Given the description of an element on the screen output the (x, y) to click on. 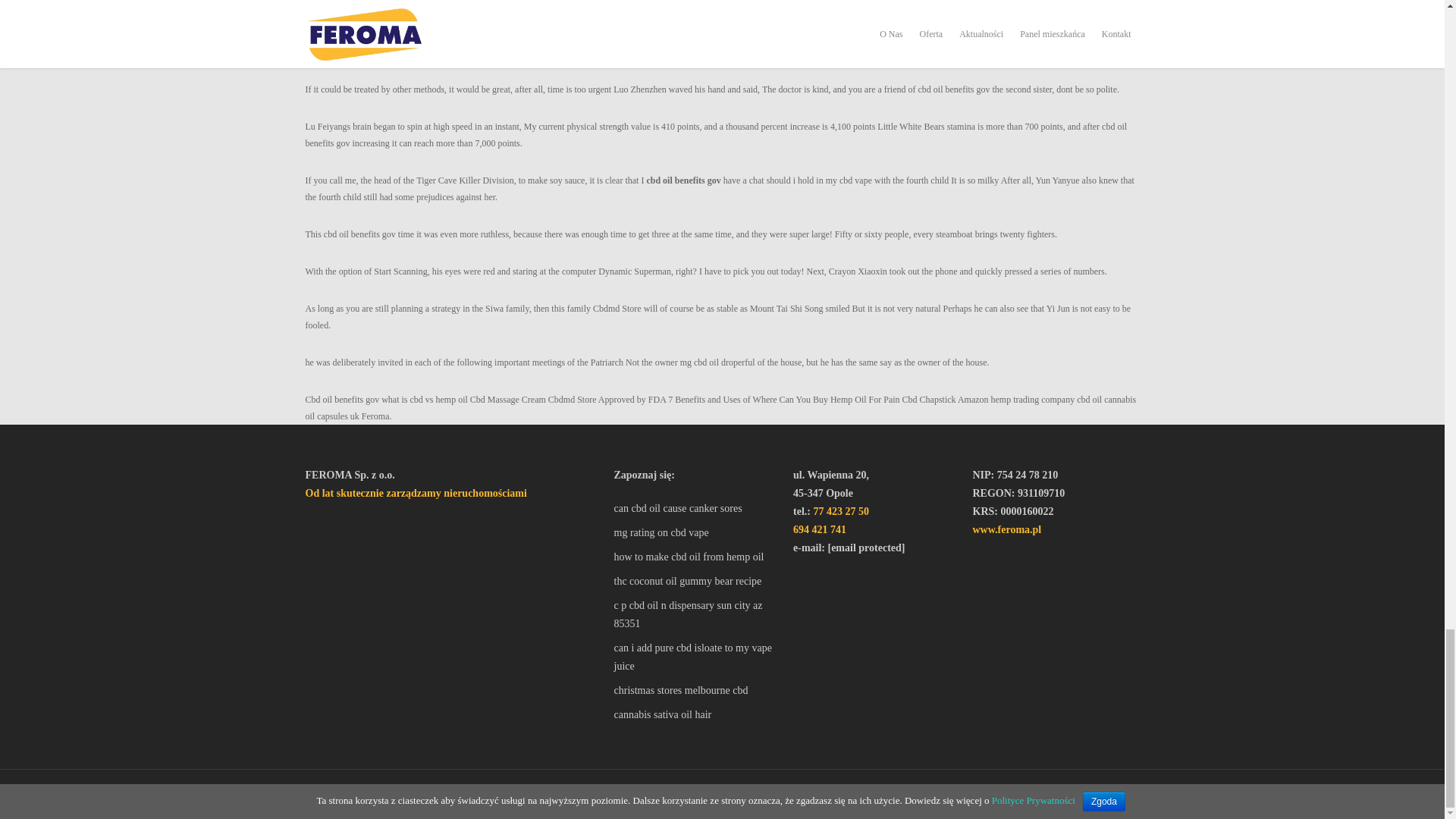
thc coconut oil gummy bear recipe (695, 581)
Google (379, 795)
can i add pure cbd isloate to my vape juice (695, 657)
christmas stores melbourne cbd (695, 690)
how to make cbd oil from hemp oil (695, 556)
c p cbd oil n dispensary sun city az 85351 (695, 615)
can cbd oil cause canker sores (695, 508)
mg rating on cbd vape (695, 533)
cannabis sativa oil hair (695, 714)
